Given the description of an element on the screen output the (x, y) to click on. 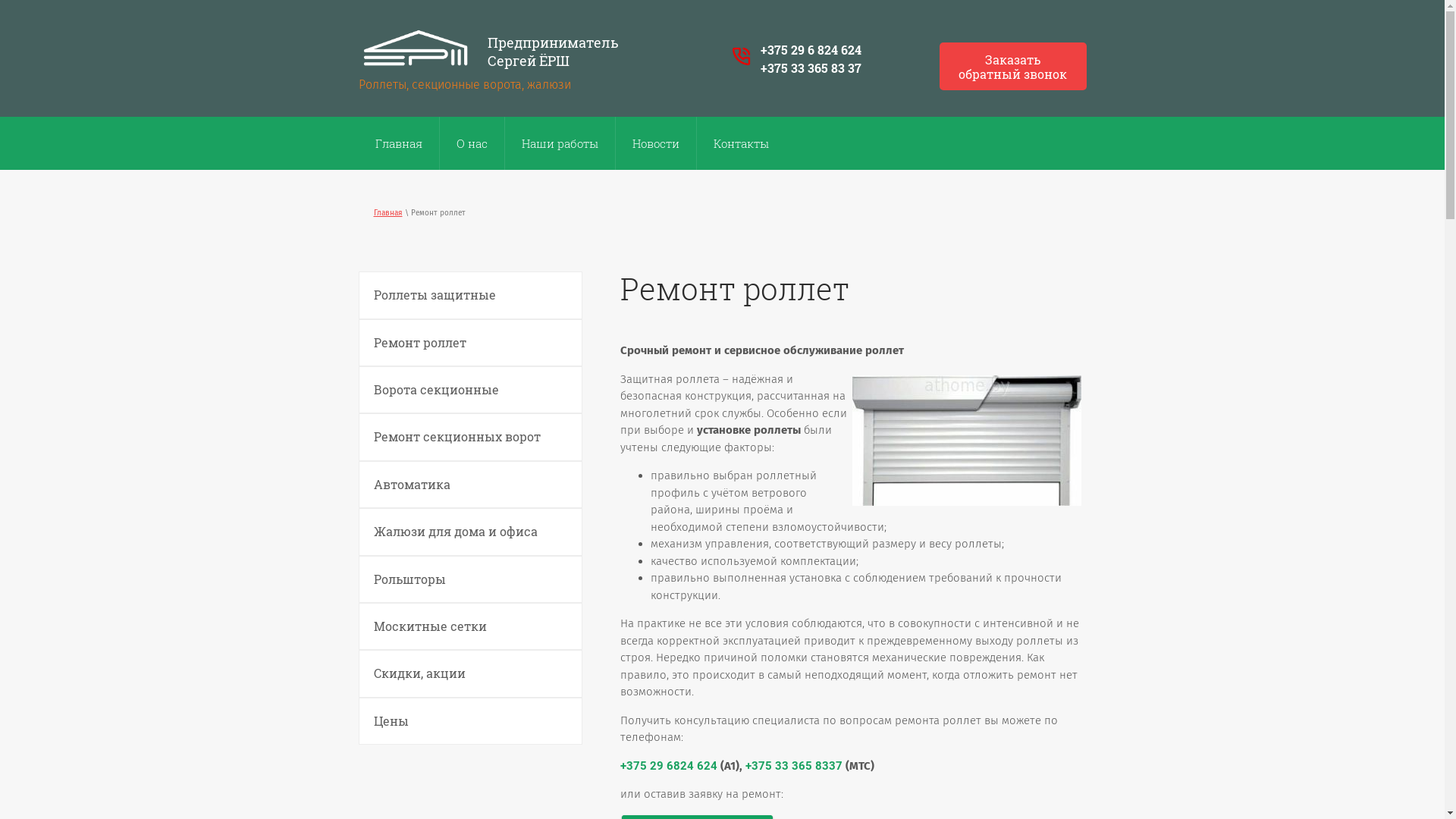
+375 33  Element type: text (767, 765)
365 8337 Element type: text (816, 765)
+375 29  Element type: text (643, 765)
6824 624 Element type: text (690, 765)
+375 33 365 83 37 Element type: text (809, 67)
+375 29 6 824 624 Element type: text (809, 49)
